Given the description of an element on the screen output the (x, y) to click on. 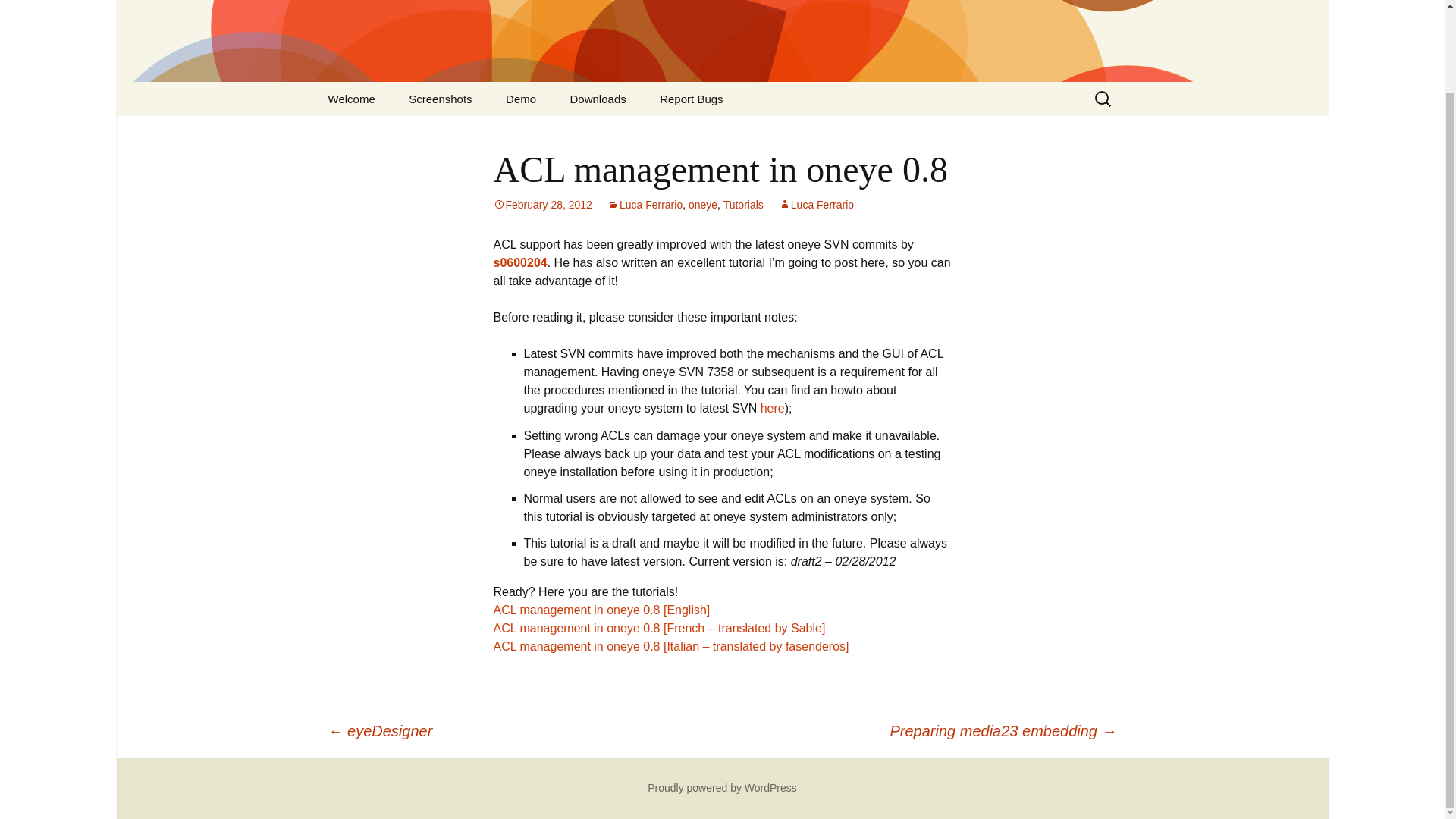
Luca Ferrario (644, 204)
GitHub (630, 132)
Screenshots (439, 98)
Report Bugs (691, 98)
s0600204 (520, 262)
Open s0600204's forum profile (520, 262)
Welcome (351, 98)
Downloads (598, 98)
oneye project (722, 40)
Demo (520, 98)
